Given the description of an element on the screen output the (x, y) to click on. 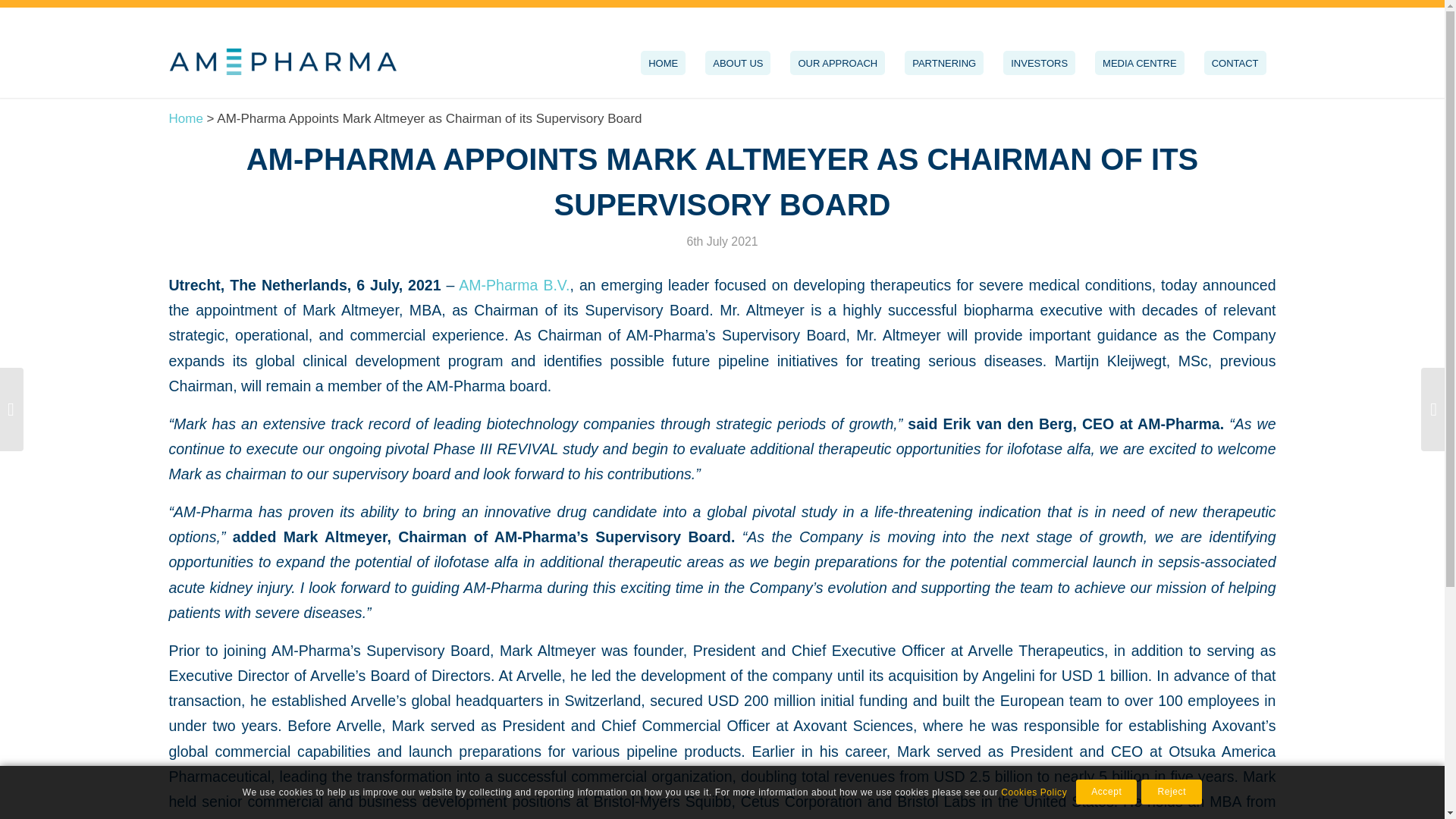
CONTACT (1234, 63)
Home (185, 118)
OUR APPROACH (837, 63)
Cookies Policy (1034, 792)
Reject (1171, 791)
MEDIA CENTRE (1138, 63)
INVESTORS (1038, 63)
PARTNERING (943, 63)
Accept (1106, 791)
AM-Pharma B.V. (513, 284)
HOME (662, 63)
ABOUT US (737, 63)
